Given the description of an element on the screen output the (x, y) to click on. 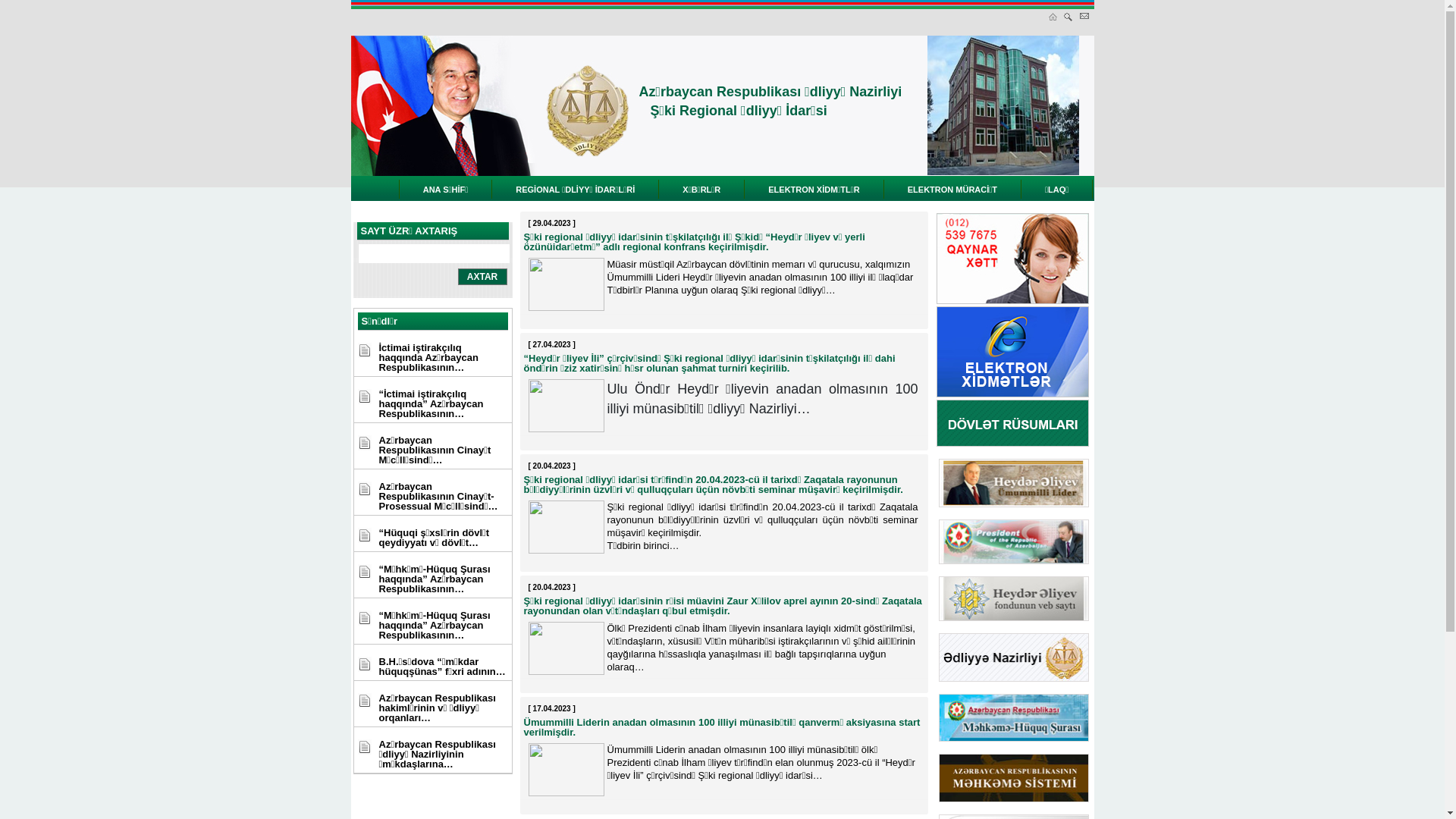
AXTAR Element type: text (482, 276)
